Given the description of an element on the screen output the (x, y) to click on. 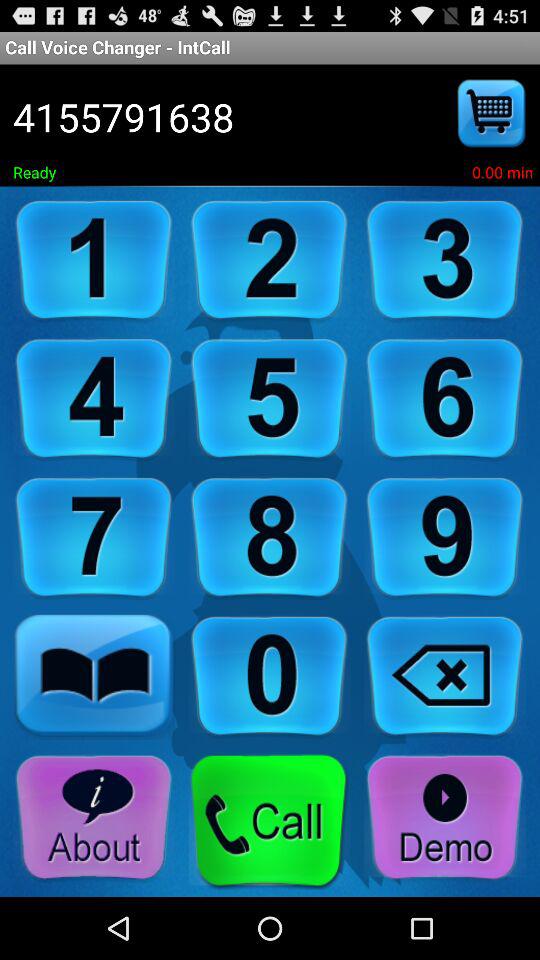
click number (445, 538)
